Given the description of an element on the screen output the (x, y) to click on. 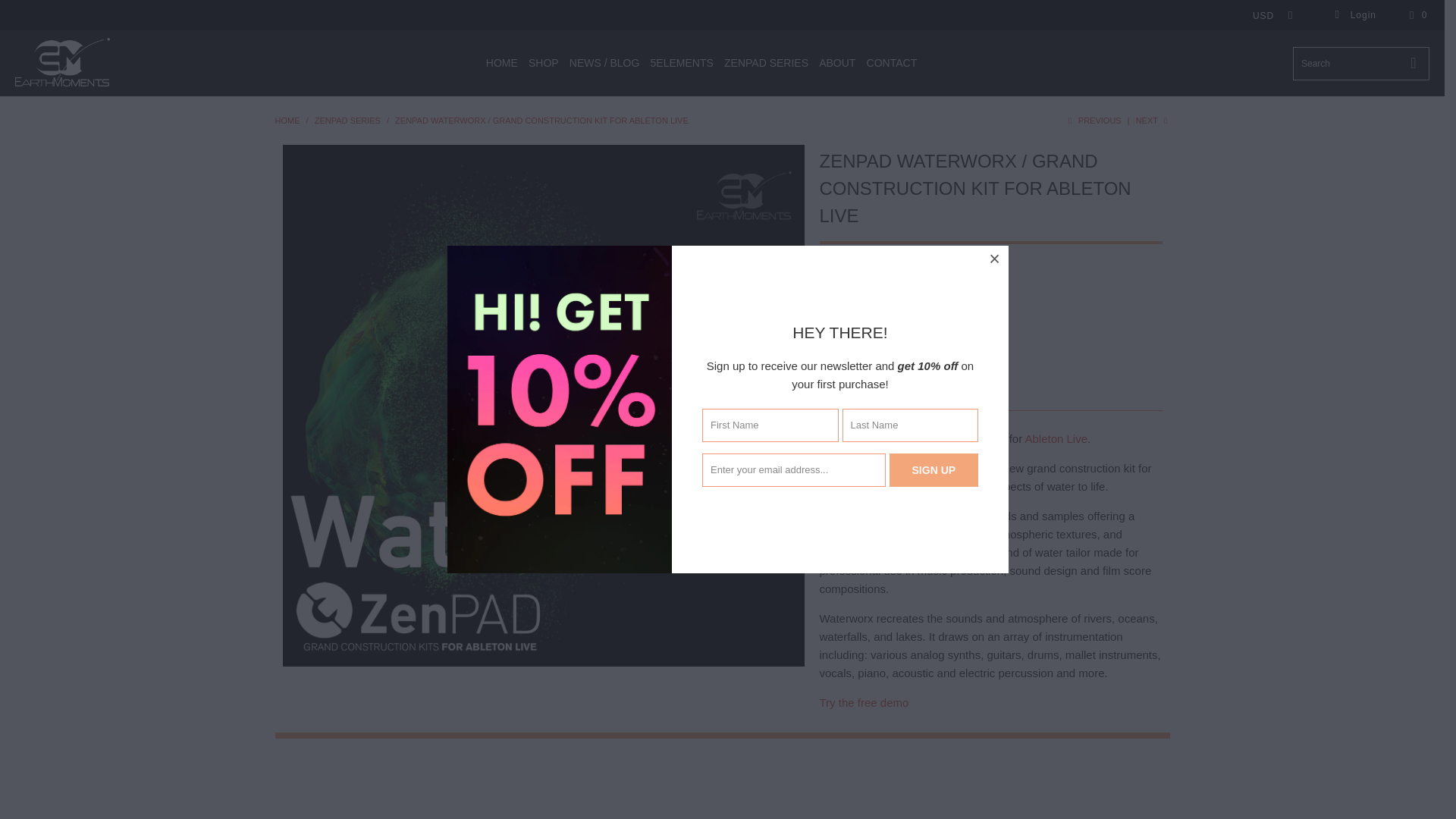
EarthMoments (287, 120)
Next (1152, 120)
USD (1268, 15)
EarthMoments (62, 62)
Sign Up (933, 469)
Login (1355, 15)
Previous (1092, 120)
ZenPad Series (347, 120)
My Account  (1355, 15)
